Given the description of an element on the screen output the (x, y) to click on. 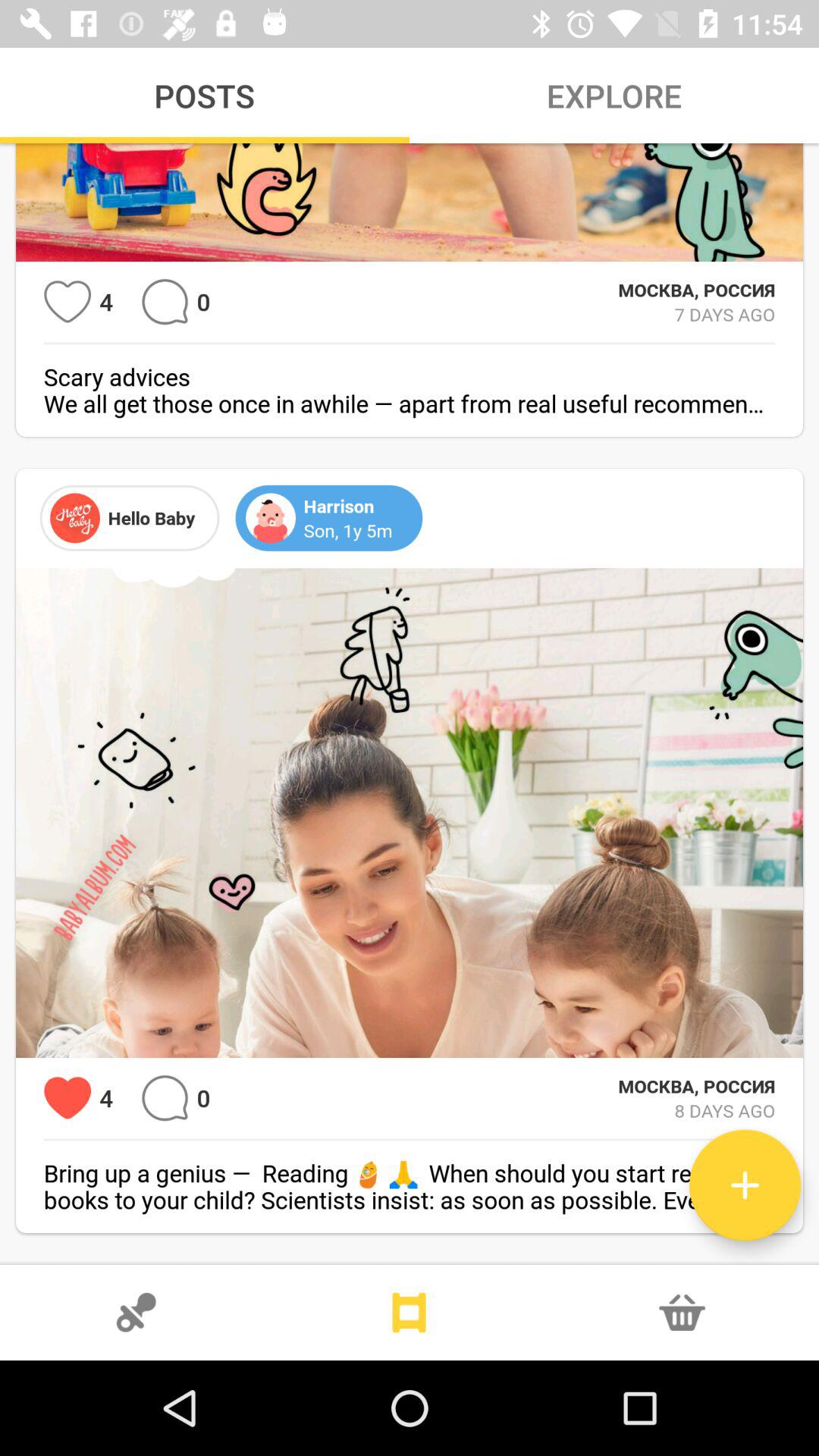
read this article (744, 1185)
